Given the description of an element on the screen output the (x, y) to click on. 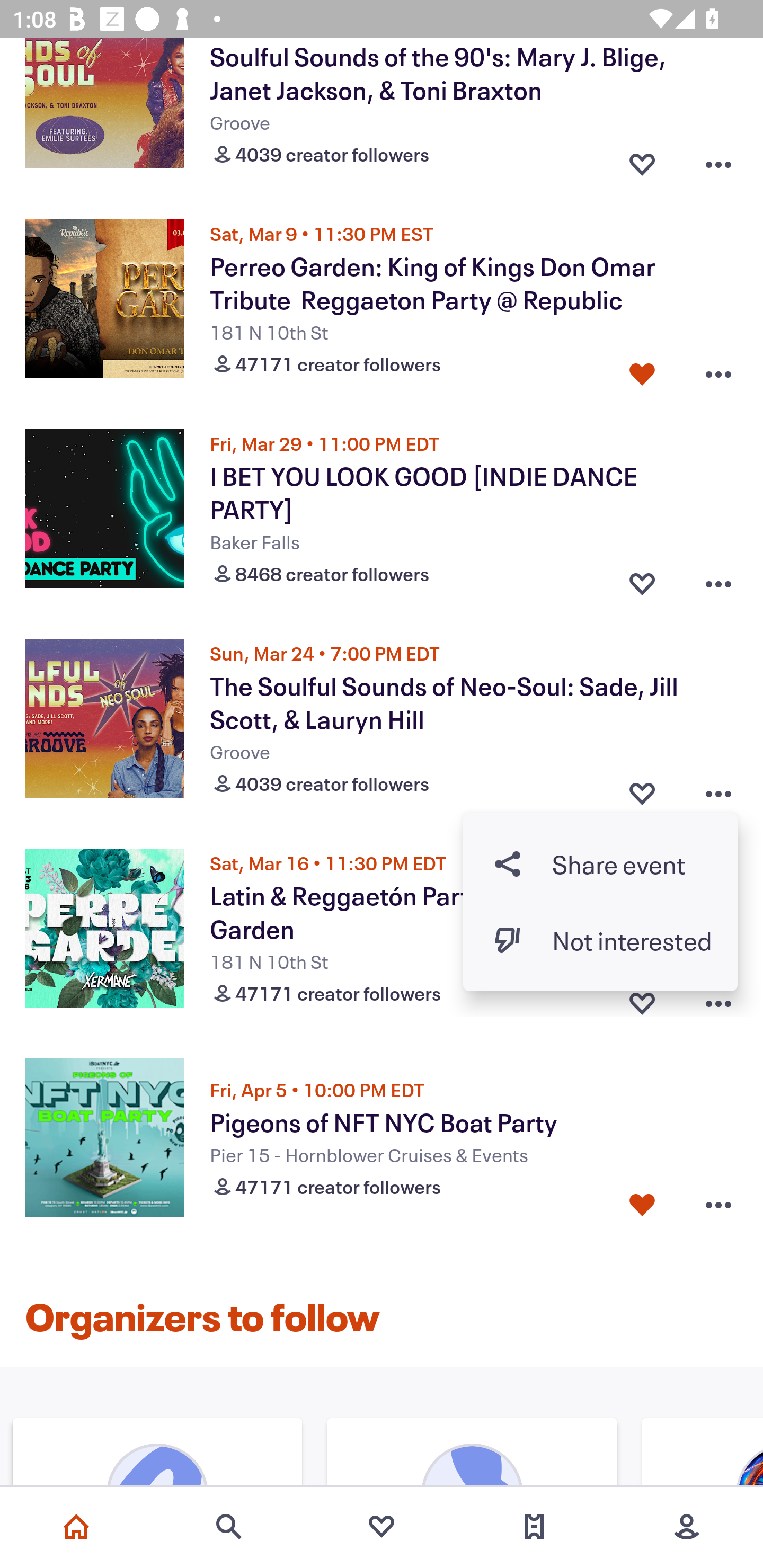
Share button Share event (600, 863)
Dislike event button Not interested (600, 939)
